Given the description of an element on the screen output the (x, y) to click on. 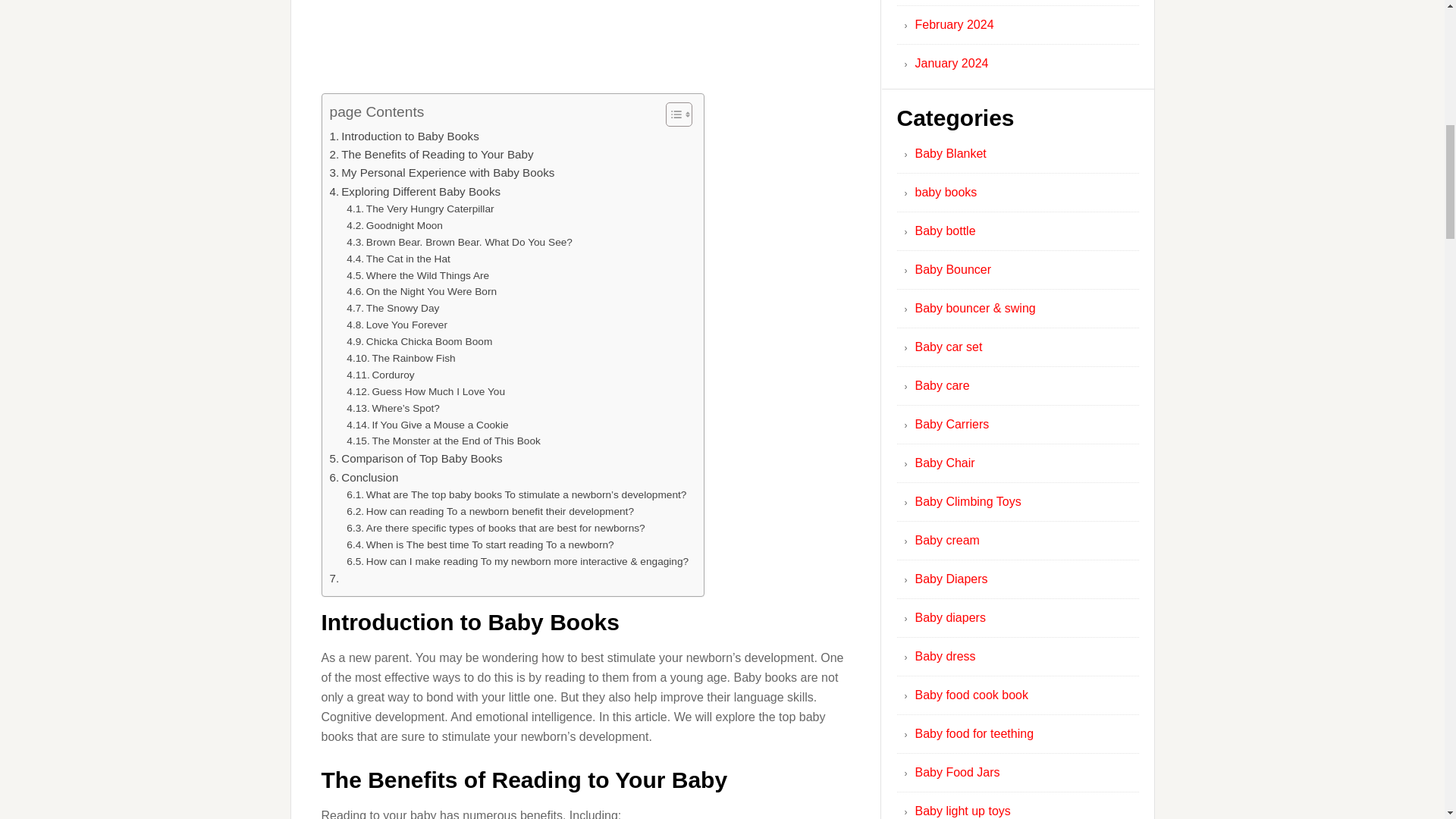
Corduroy (379, 375)
Love You Forever (396, 324)
Introduction to Baby Books (404, 136)
My Personal Experience with Baby Books (441, 172)
Exploring Different Baby Books (414, 191)
Brown Bear. Brown Bear. What Do You See? (459, 242)
The Benefits of Reading to Your Baby (430, 154)
The Cat in the Hat (397, 258)
Exploring Different Baby Books (414, 191)
Introduction to Baby Books (404, 136)
